Given the description of an element on the screen output the (x, y) to click on. 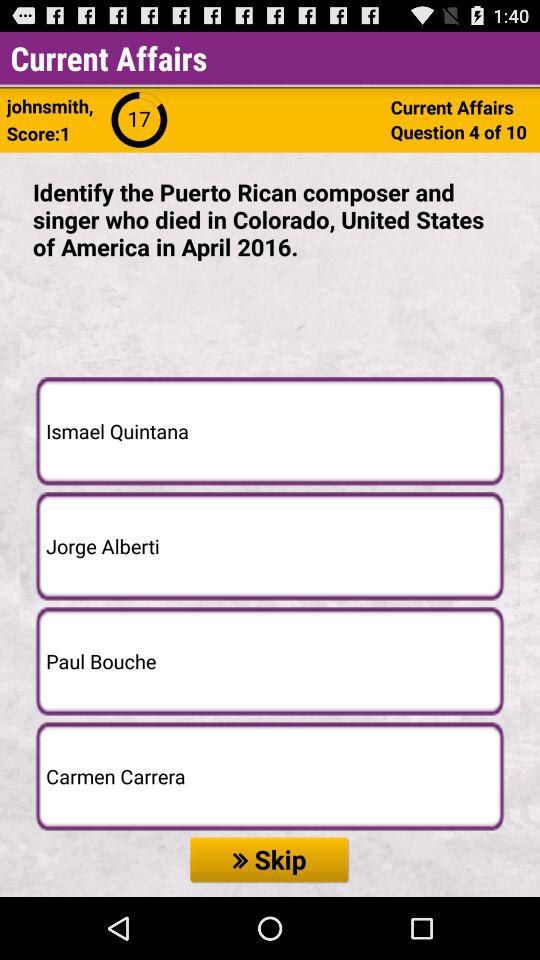
scroll until paul bouche (270, 661)
